Given the description of an element on the screen output the (x, y) to click on. 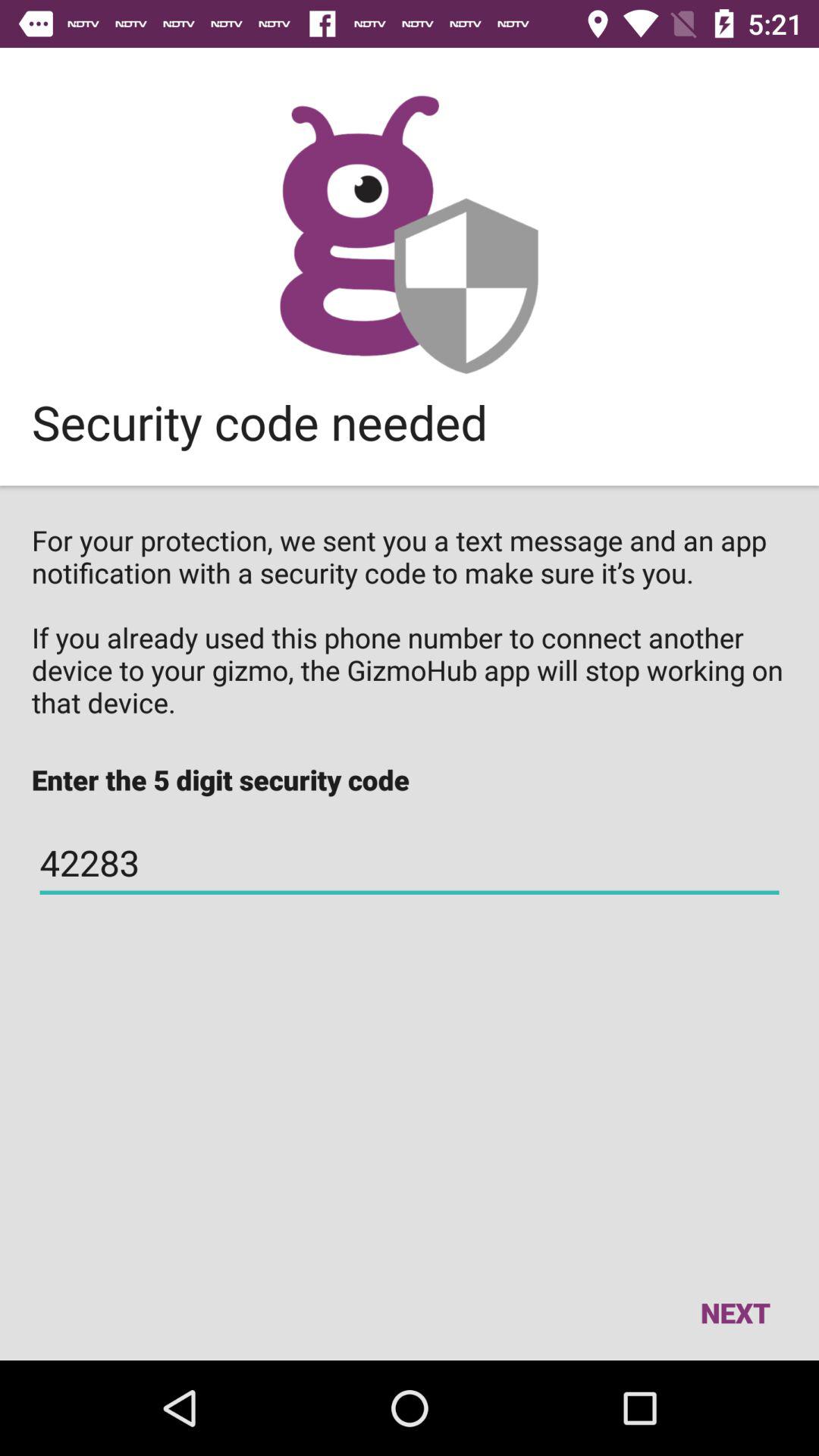
turn on the icon above the next item (409, 863)
